Given the description of an element on the screen output the (x, y) to click on. 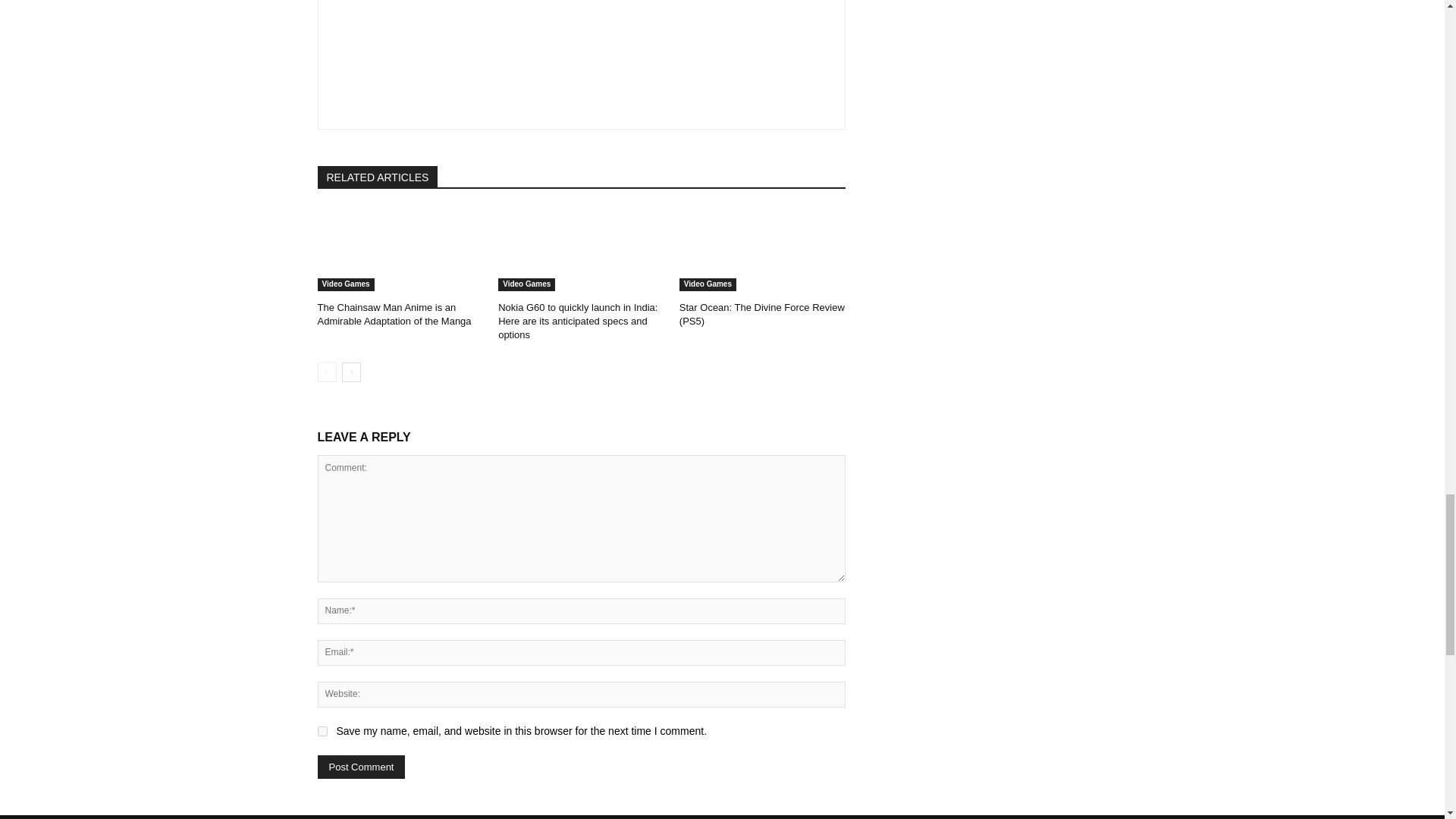
Post Comment (360, 766)
yes (321, 731)
